Given the description of an element on the screen output the (x, y) to click on. 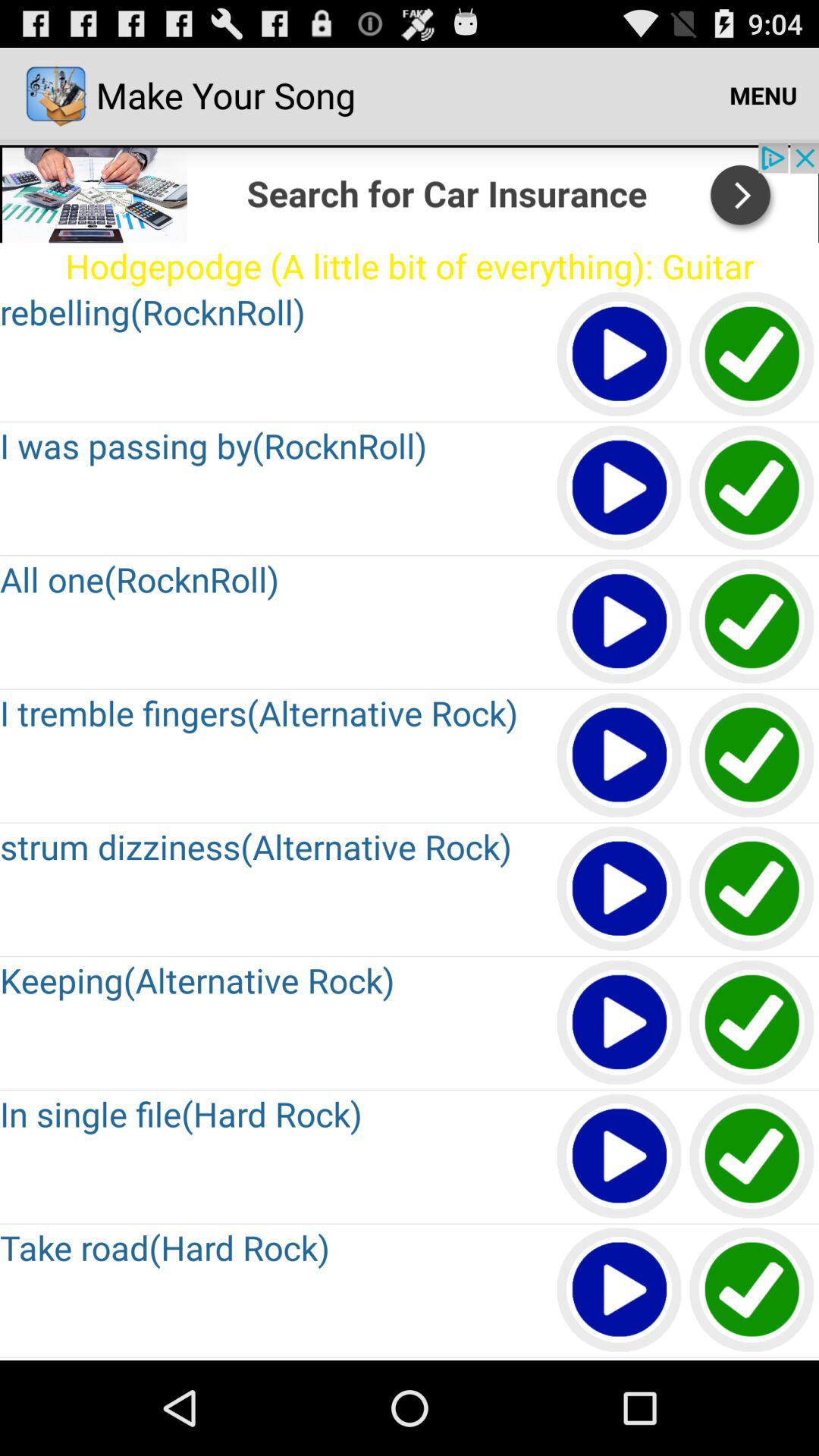
include this selection (752, 889)
